Given the description of an element on the screen output the (x, y) to click on. 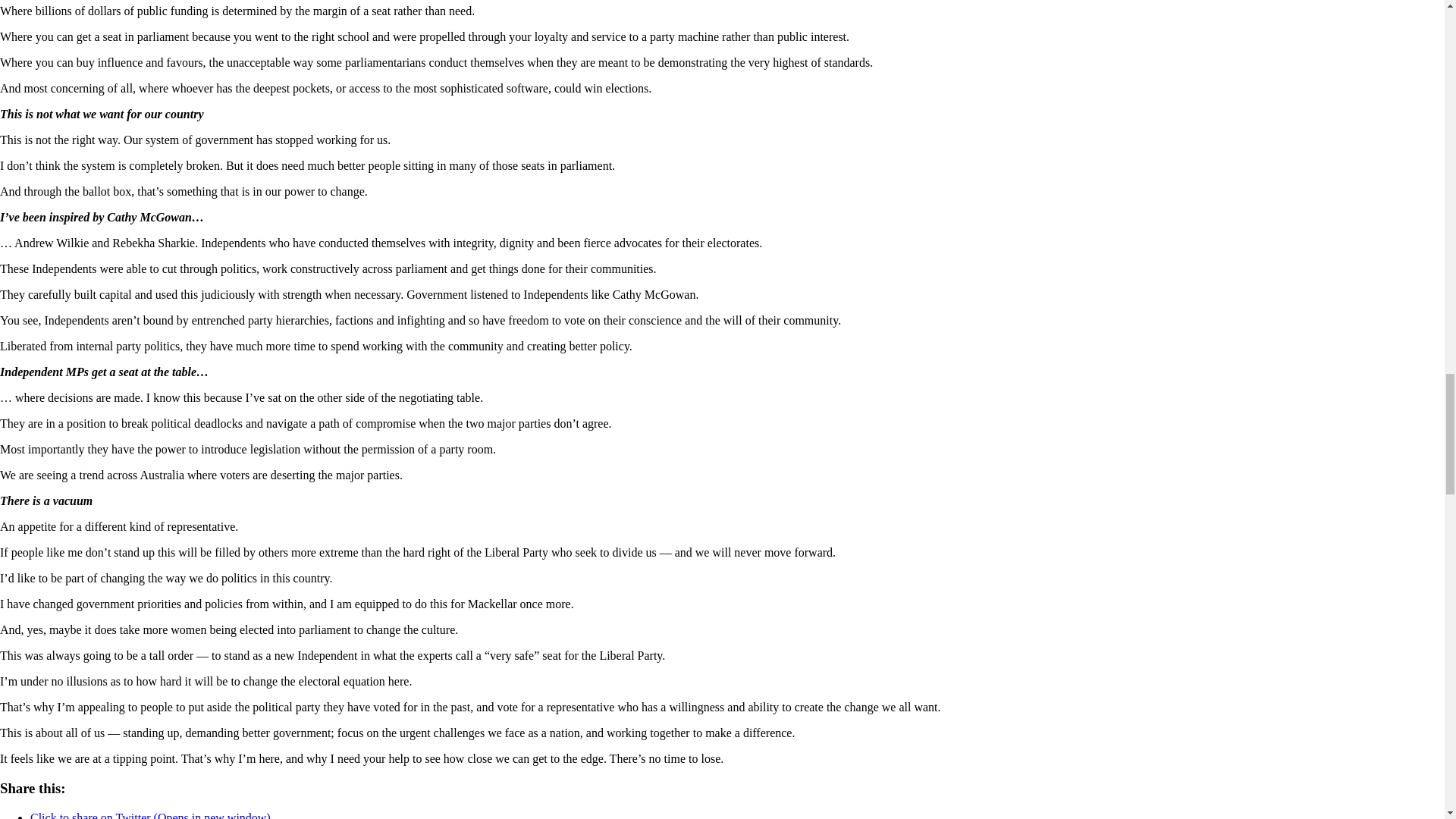
Click to share on Twitter (150, 815)
